Given the description of an element on the screen output the (x, y) to click on. 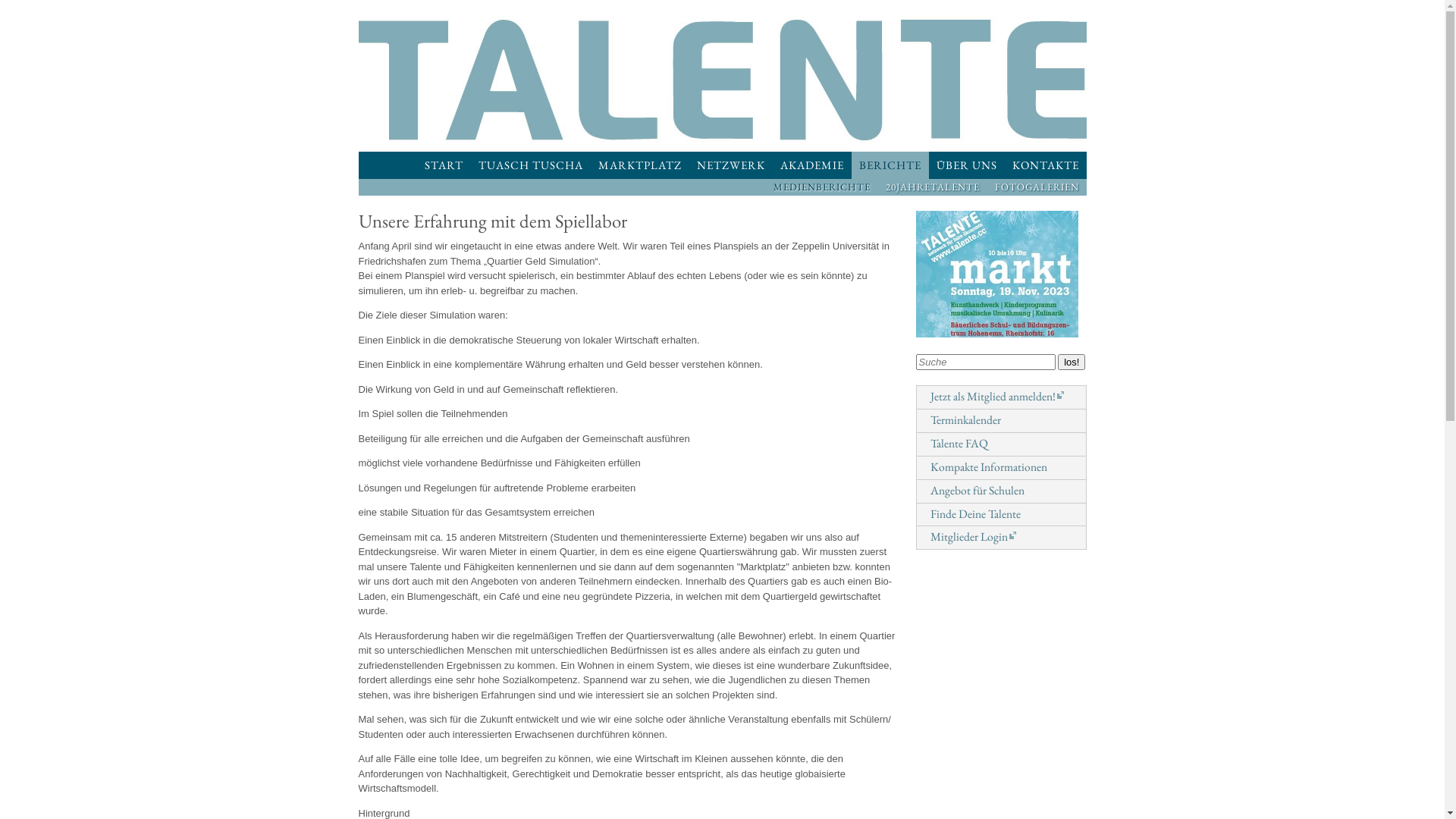
TUASCH TUSCHA Element type: text (529, 164)
AKADEMIE Element type: text (810, 164)
Mitglieder Login
(link is external) Element type: text (968, 536)
TALENTE Element type: text (721, 79)
Direkt zum Inhalt Element type: text (662, 15)
20JAHRETALENTE Element type: text (932, 186)
Jetzt als Mitglied anmelden!
(link is external) Element type: text (992, 396)
START Element type: text (443, 164)
los! Element type: text (1071, 362)
Kompakte Informationen Element type: text (983, 466)
KONTAKTE Element type: text (1044, 164)
MARKTPLATZ Element type: text (638, 164)
Finde Deine Talente Element type: text (970, 513)
MEDIENBERICHTE Element type: text (821, 186)
BERICHTE Element type: text (889, 164)
FOTOGALERIEN Element type: text (1036, 186)
NETZWERK Element type: text (729, 164)
Terminkalender Element type: text (960, 419)
Talente FAQ Element type: text (953, 443)
